Given the description of an element on the screen output the (x, y) to click on. 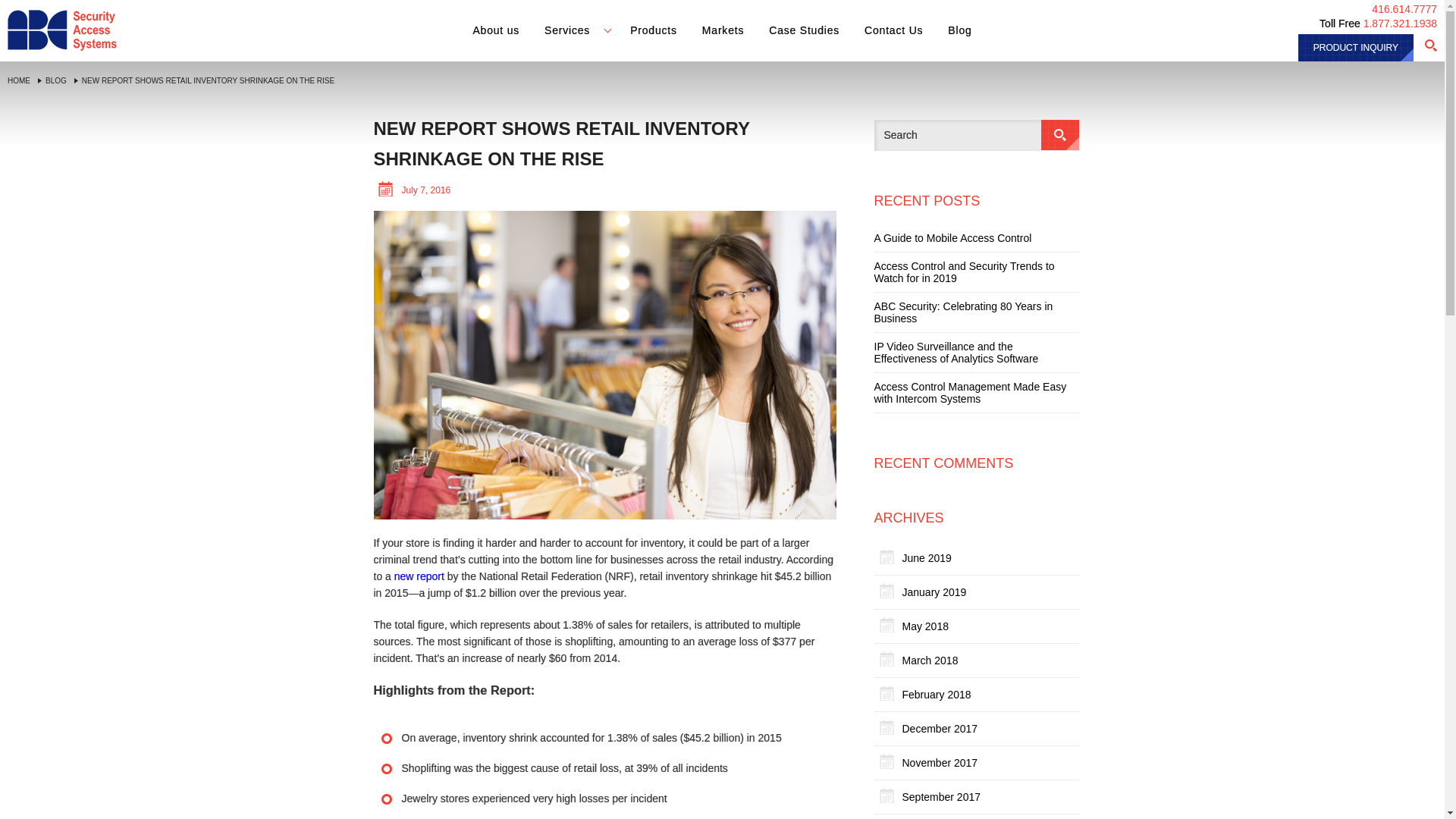
BLOG (51, 80)
May 2018 (925, 626)
December 2017 (940, 728)
HOME (15, 80)
ABC Security: Celebrating 80 Years in Business (975, 312)
January 2019 (934, 591)
A Guide to Mobile Access Control (951, 238)
new report (419, 576)
PRODUCT INQUIRY (1355, 47)
Access Control and Security Trends to Watch for in 2019 (975, 272)
March 2018 (930, 660)
June 2019 (927, 557)
February 2018 (936, 694)
NEW REPORT SHOWS RETAIL INVENTORY SHRINKAGE ON THE RISE (204, 80)
